Given the description of an element on the screen output the (x, y) to click on. 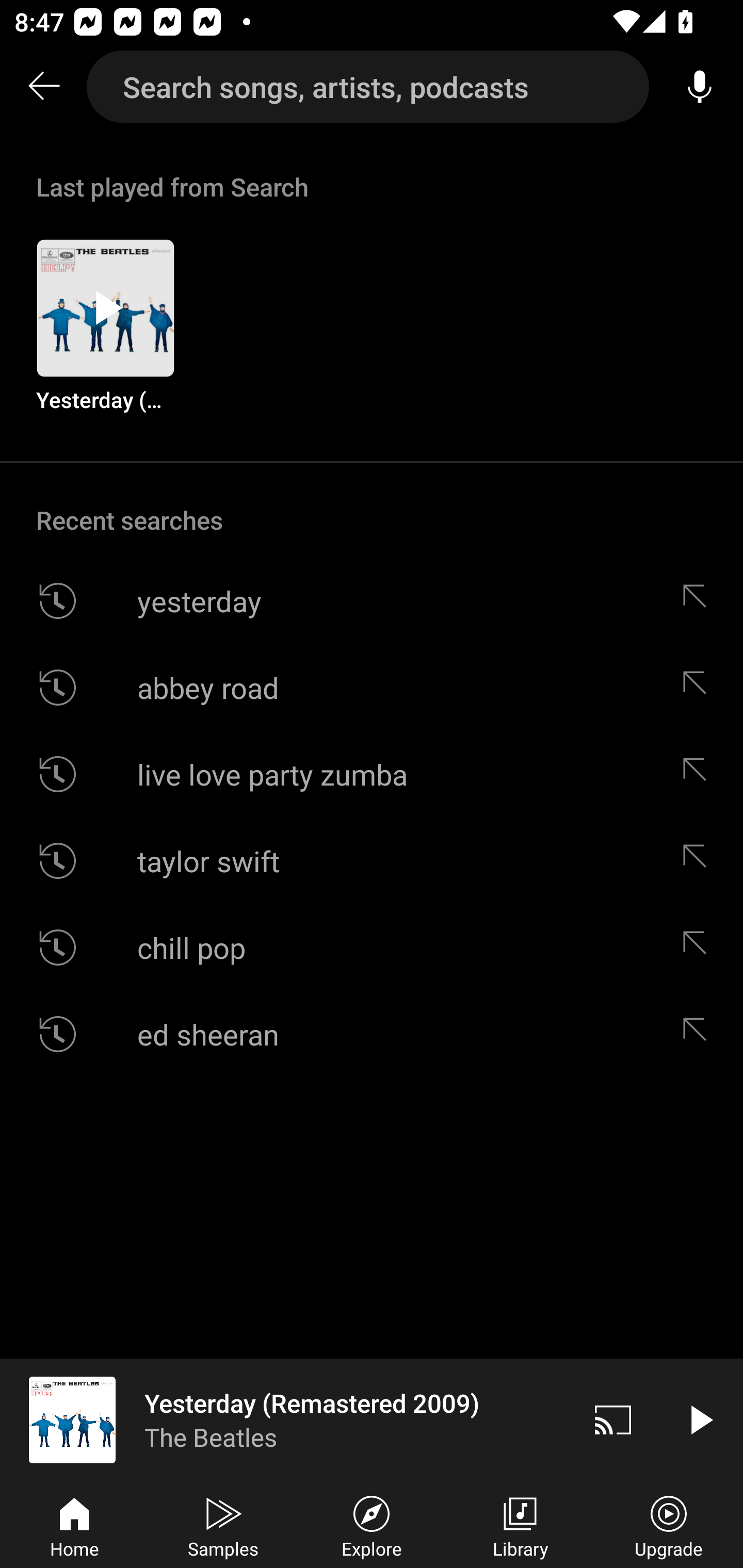
Search back (43, 86)
Search songs, artists, podcasts (367, 86)
Voice search (699, 86)
yesterday Edit suggestion yesterday (371, 601)
Edit suggestion yesterday (699, 601)
abbey road Edit suggestion abbey road (371, 687)
Edit suggestion abbey road (699, 687)
Edit suggestion live love party zumba (699, 773)
taylor swift Edit suggestion taylor swift (371, 860)
Edit suggestion taylor swift (699, 860)
chill pop Edit suggestion chill pop (371, 947)
Edit suggestion chill pop (699, 947)
ed sheeran Edit suggestion ed sheeran (371, 1033)
Edit suggestion ed sheeran (699, 1033)
Yesterday (Remastered 2009) The Beatles (284, 1419)
Cast. Disconnected (612, 1419)
Play video (699, 1419)
Home (74, 1524)
Samples (222, 1524)
Explore (371, 1524)
Library (519, 1524)
Upgrade (668, 1524)
